Given the description of an element on the screen output the (x, y) to click on. 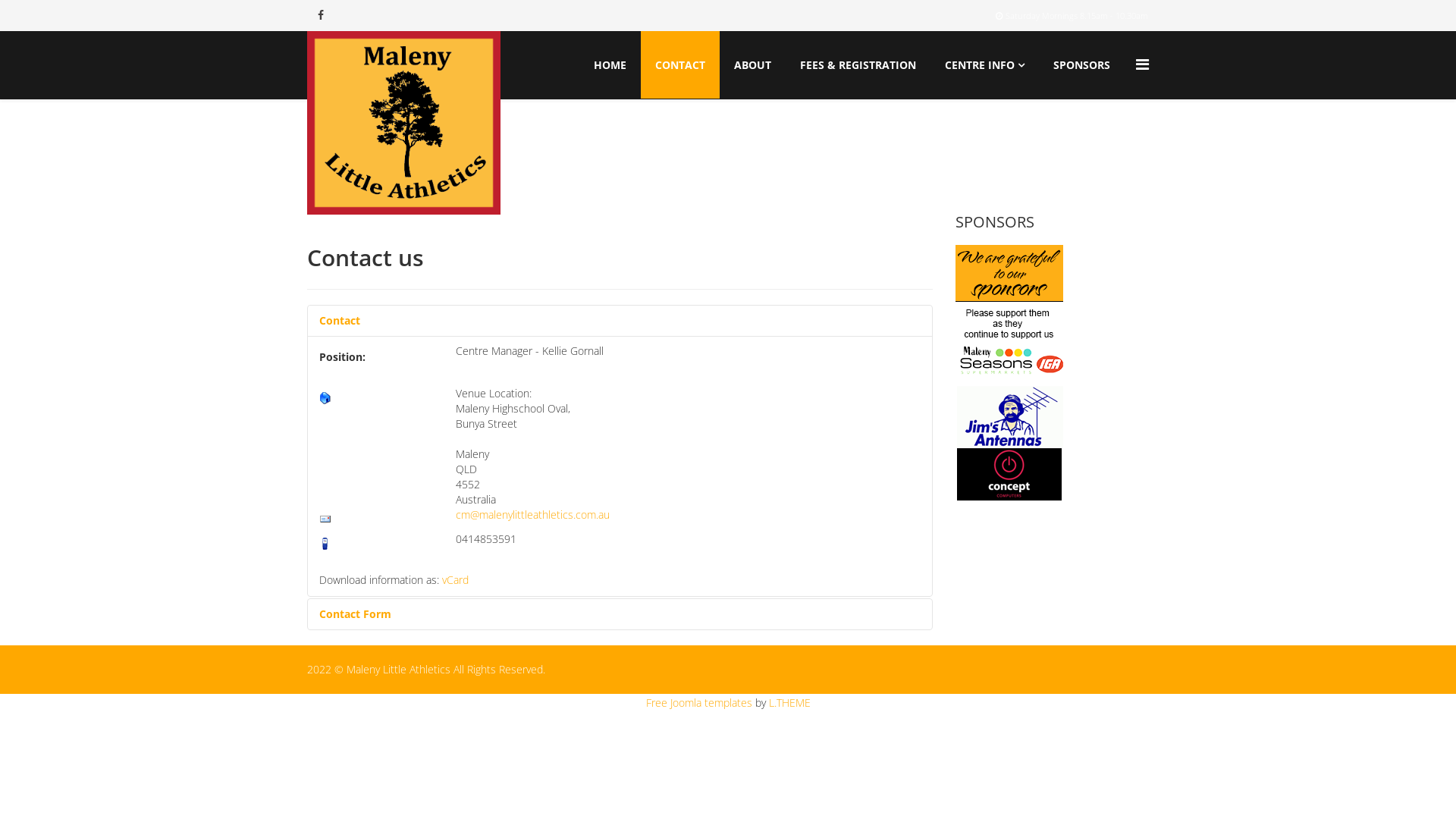
HOME Element type: text (609, 64)
Sponsors Element type: hover (1051, 373)
FEES & REGISTRATION Element type: text (857, 64)
cm@malenylittleathletics.com.au Element type: text (532, 514)
Menu Element type: hover (1141, 64)
L.THEME Element type: text (789, 702)
CONTACT Element type: text (680, 64)
Contact Form Element type: text (619, 614)
SPONSORS Element type: text (1081, 64)
vCard Element type: text (455, 579)
Free Joomla templates Element type: text (699, 702)
Contact Element type: text (619, 320)
CENTRE INFO Element type: text (984, 64)
ABOUT Element type: text (752, 64)
